Given the description of an element on the screen output the (x, y) to click on. 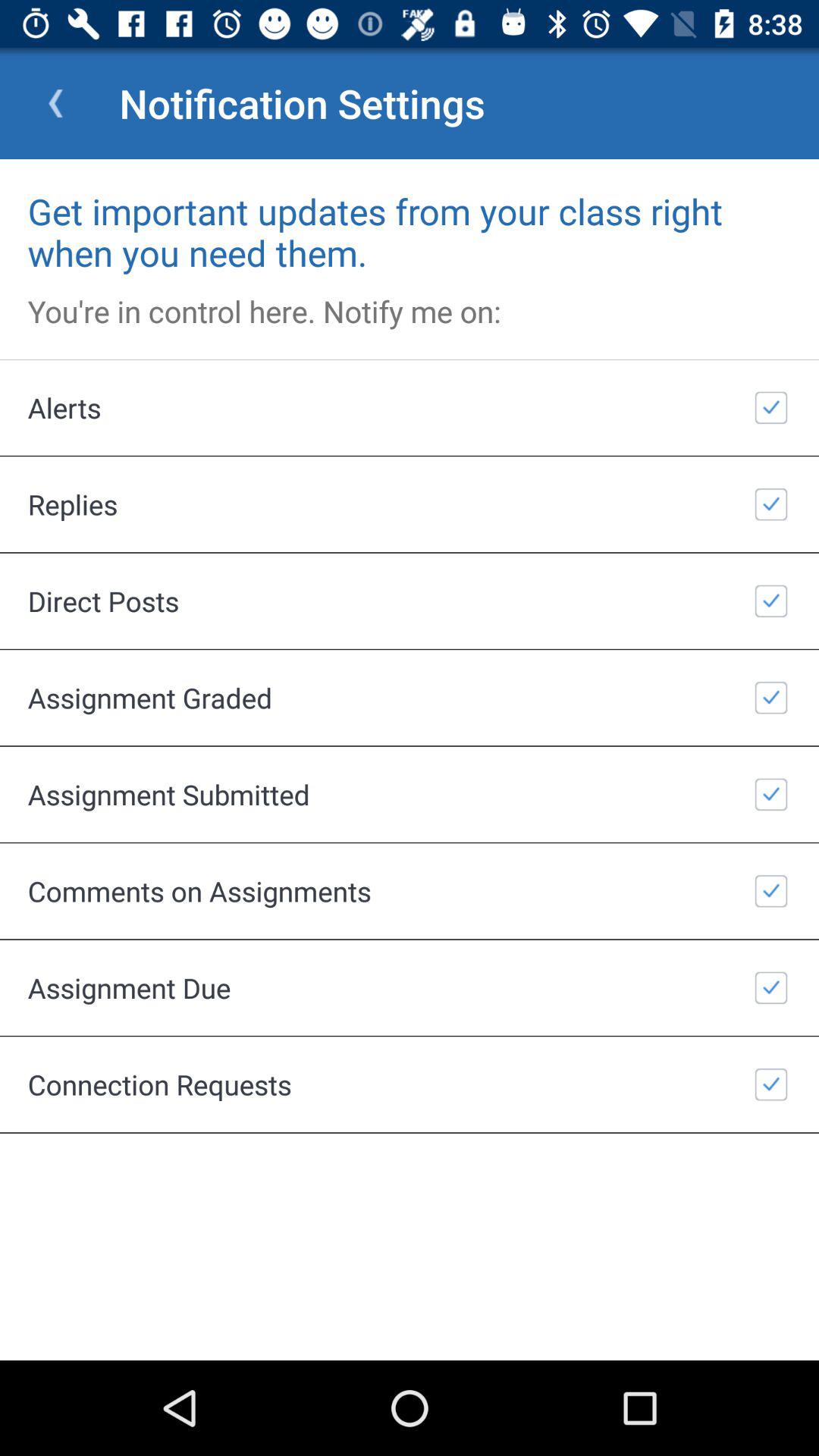
turn on item next to notification settings (55, 103)
